Given the description of an element on the screen output the (x, y) to click on. 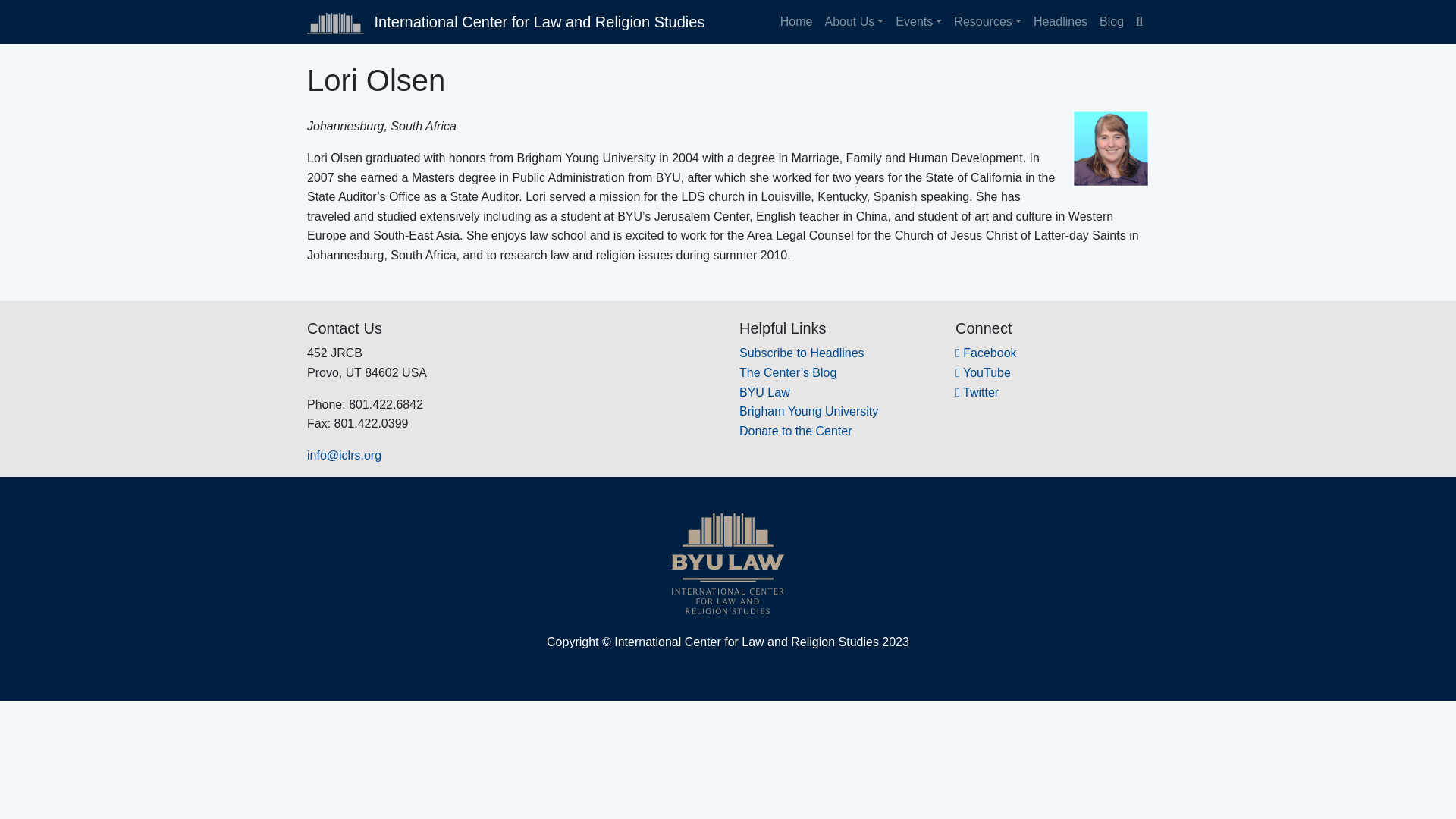
Brigham Young University (808, 410)
Home (796, 21)
International Center for Law and Religion Studies (505, 21)
About Us (853, 21)
Events (918, 21)
Subscribe to Headlines (801, 352)
Resources (987, 21)
Headlines (1060, 21)
Facebook (985, 352)
Blog (1111, 21)
Twitter (976, 391)
YouTube (982, 372)
Resources (987, 21)
Donate to the Center (795, 431)
Events (918, 21)
